Given the description of an element on the screen output the (x, y) to click on. 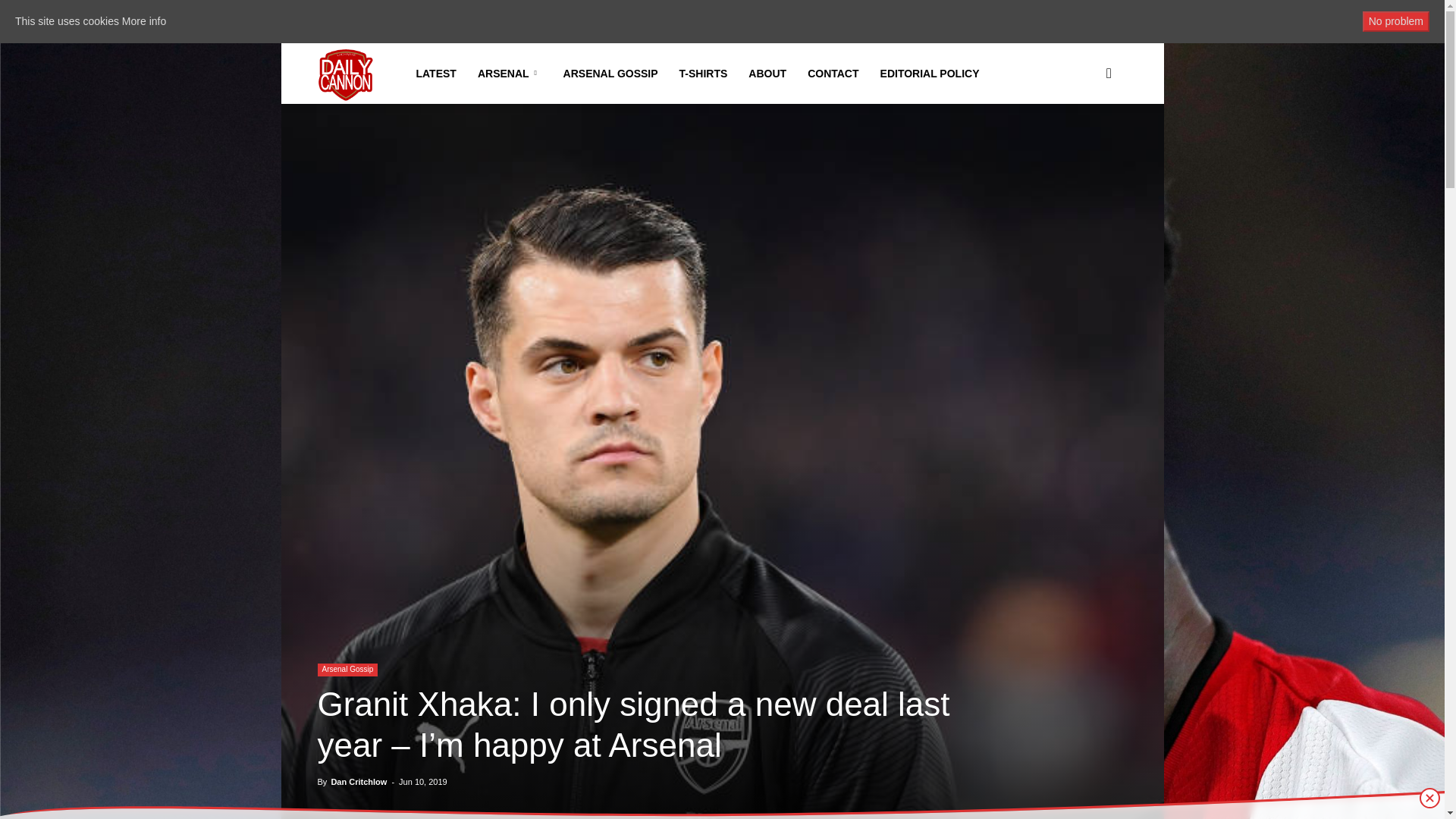
Search (1085, 146)
